Given the description of an element on the screen output the (x, y) to click on. 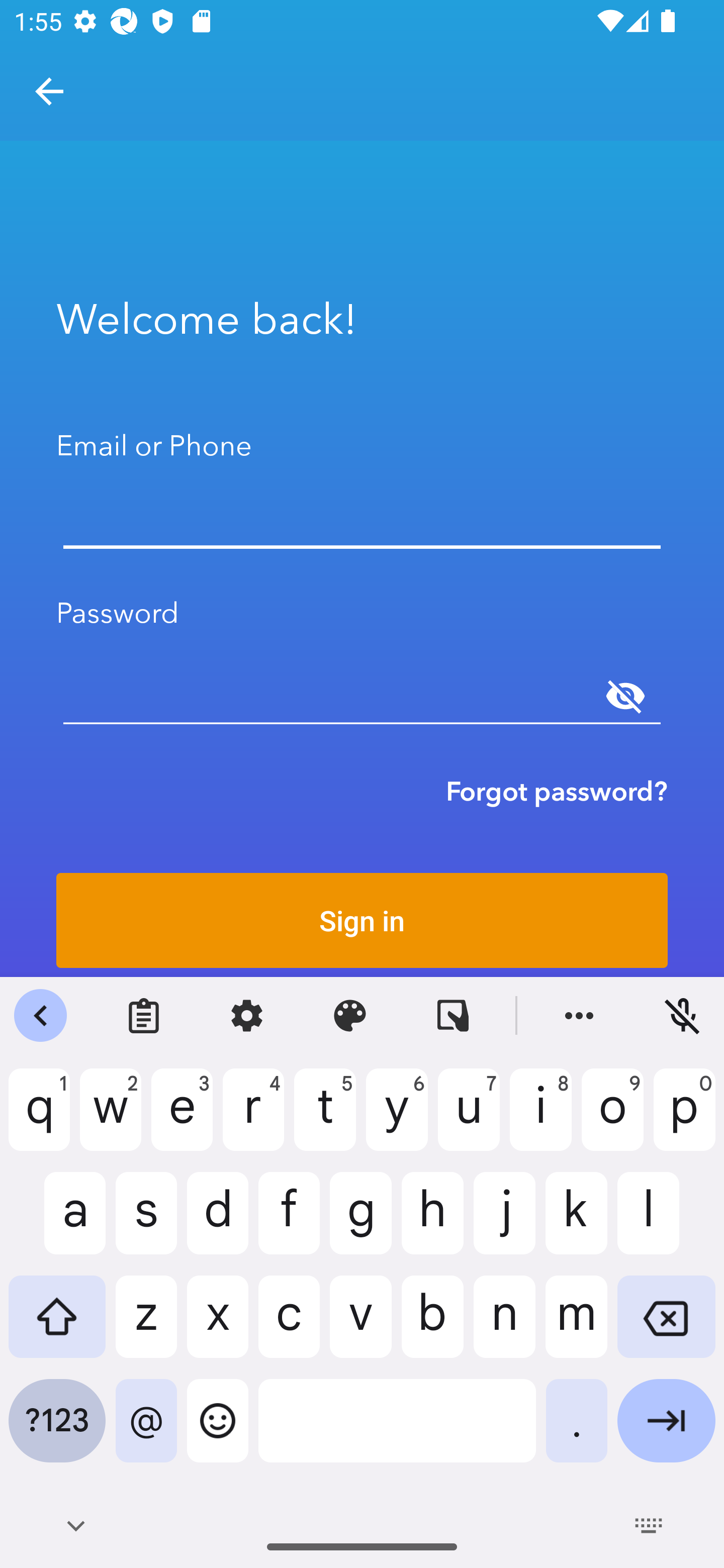
Navigate up (49, 91)
Show password (625, 695)
Forgot password? (556, 790)
Sign in (361, 920)
